Given the description of an element on the screen output the (x, y) to click on. 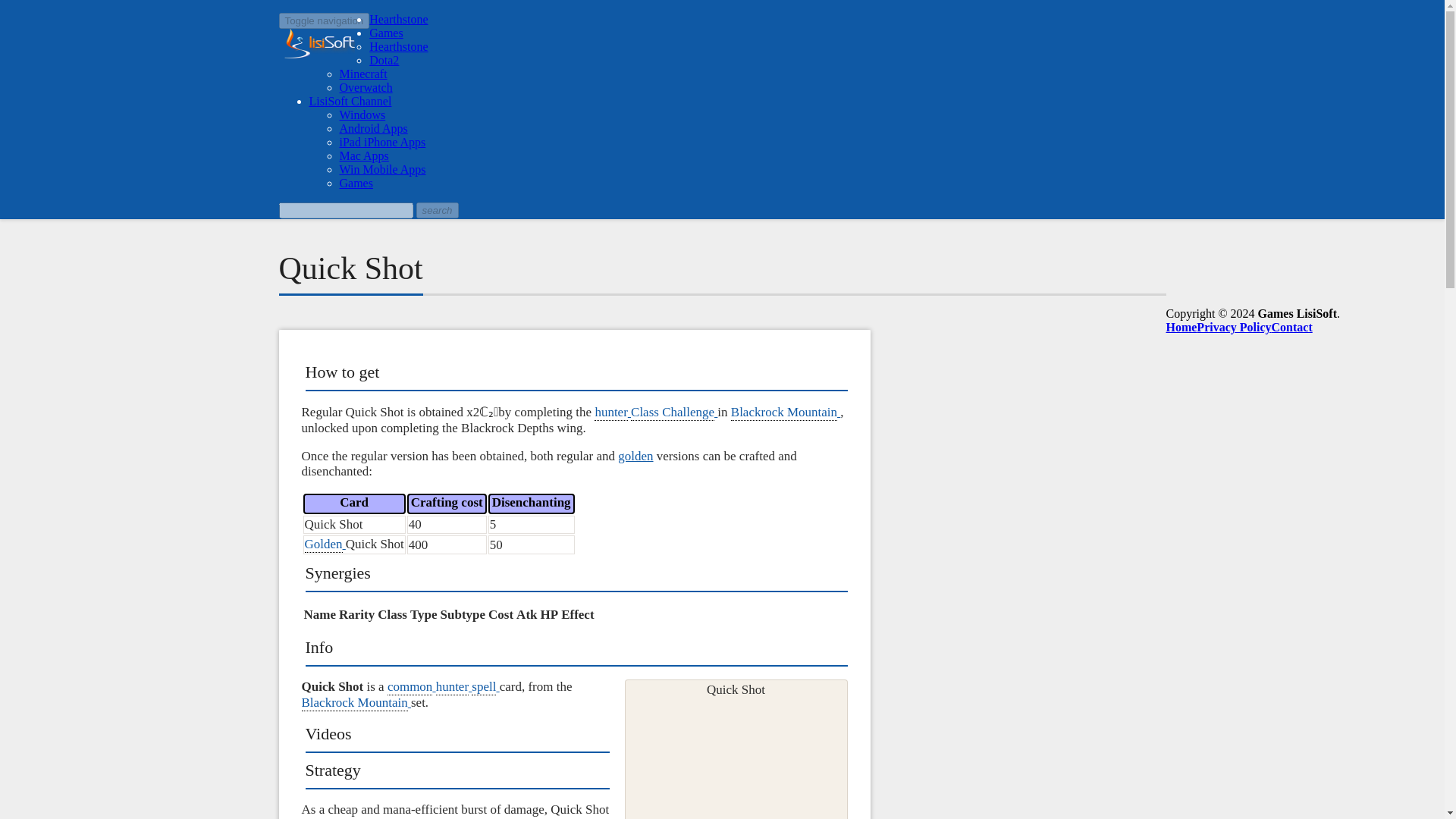
Hearthstone (398, 46)
Mac Apps (363, 155)
LisiSoft Channel (349, 101)
Hearthstone (398, 19)
common (411, 686)
Toggle navigation (324, 20)
Games (355, 182)
golden (634, 455)
Golden (325, 544)
Blackrock Mountain (355, 702)
